Given the description of an element on the screen output the (x, y) to click on. 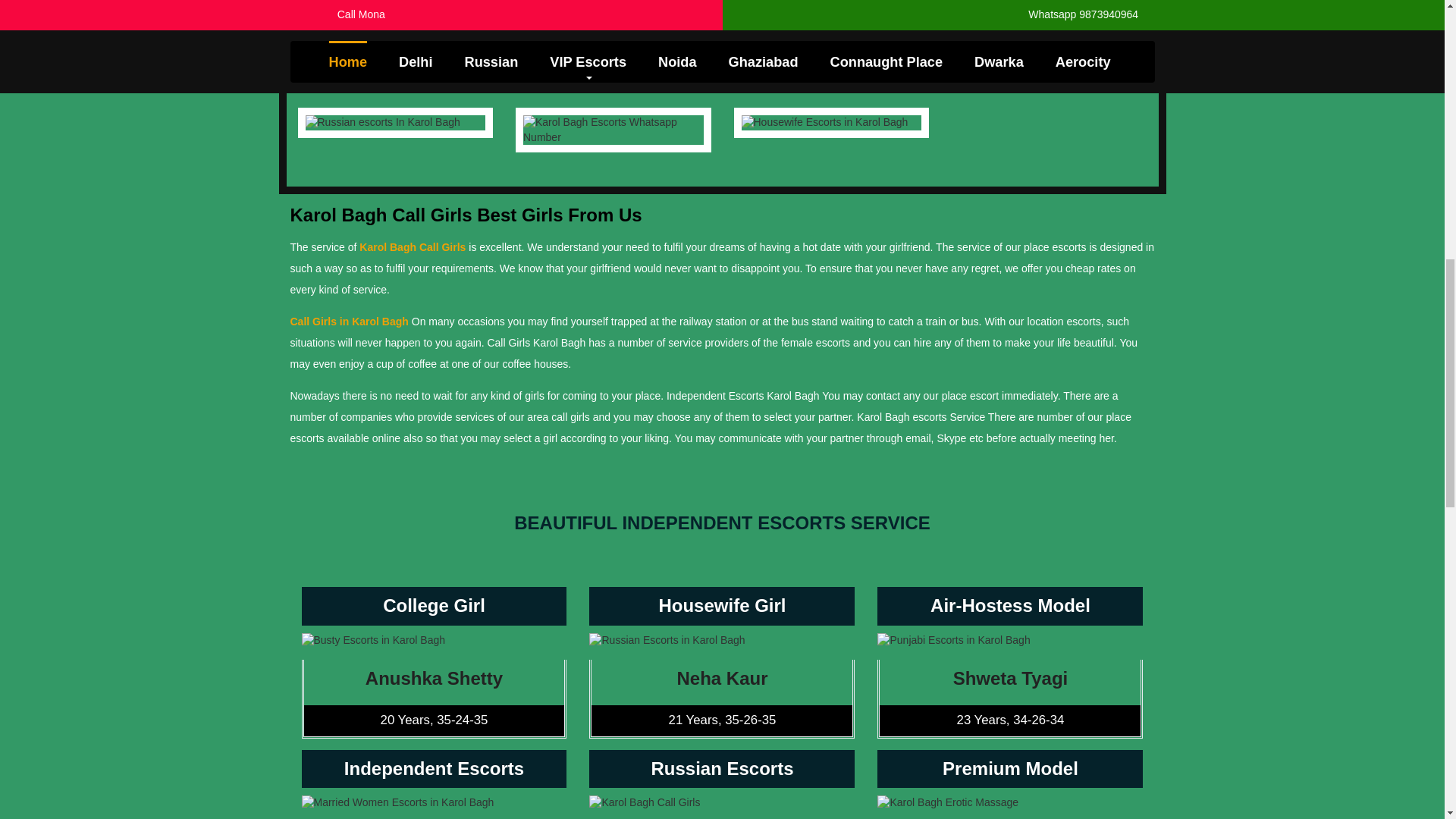
23 Years, 34-26-34 (1009, 720)
Call Girls in Karol Bagh (348, 321)
Private Karol Bagh Escorts Girls (386, 54)
High Profile escort service (1026, 4)
21 Years, 35-26-35 (721, 720)
Celebrity Karol Bagh Escorts Service (1049, 61)
High Profile Indepenent Escorts (821, 54)
20 Years, 35-24-35 (433, 720)
Independent Call Girls in Karol Bagh (612, 61)
Karol Bagh Call Girls (412, 246)
